Given the description of an element on the screen output the (x, y) to click on. 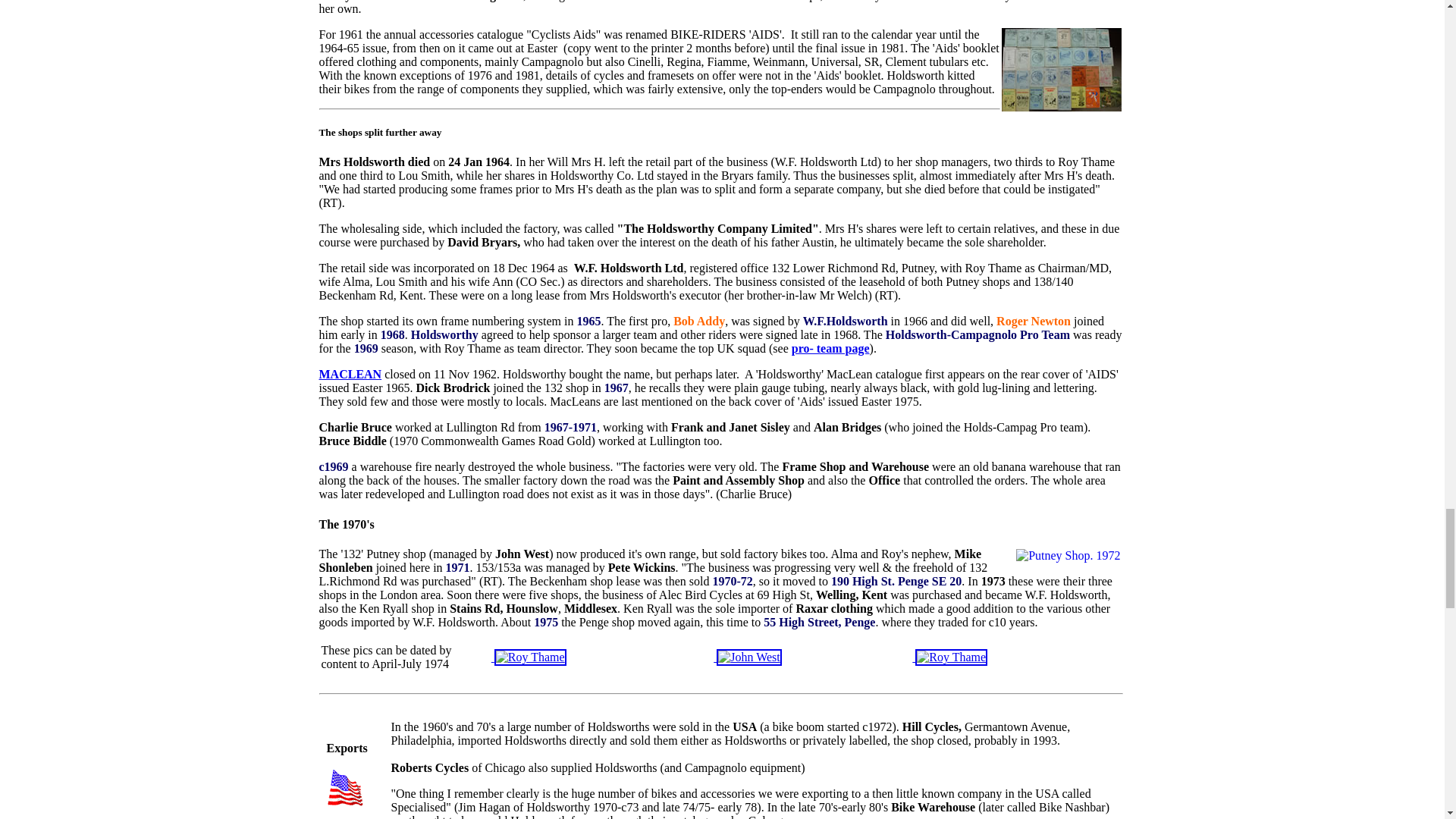
pro- team page (830, 348)
MACLEAN (349, 373)
